Given the description of an element on the screen output the (x, y) to click on. 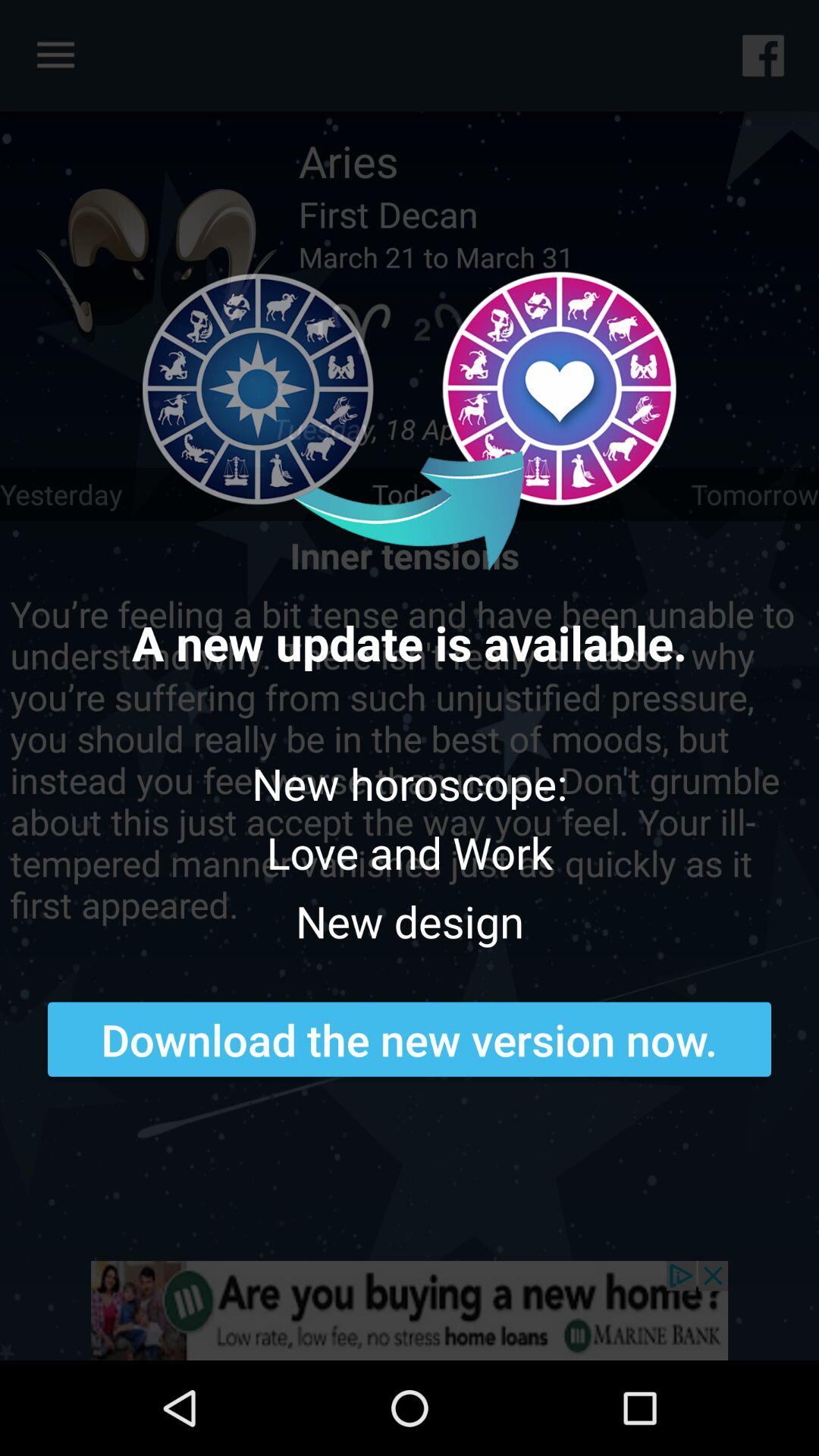
tap icon below the new design item (409, 1039)
